Given the description of an element on the screen output the (x, y) to click on. 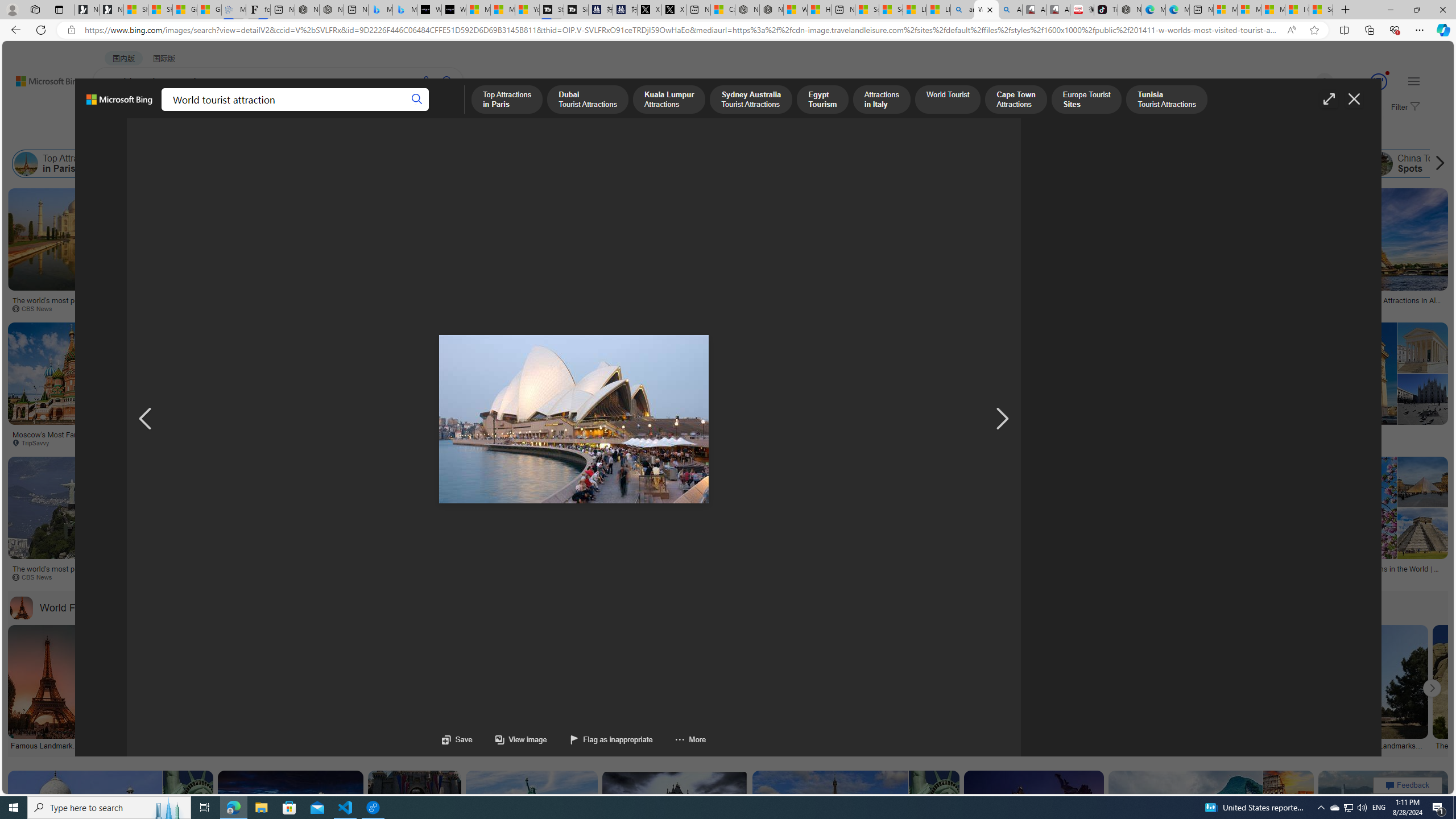
Dubai Tourist Attractions (175, 163)
License (377, 135)
femuacorsica.com (834, 442)
Famous Tourist Spot In Franceblogspot.comSave (1353, 387)
Color (173, 135)
All Cubot phones (1057, 9)
Top world's tourist places to visit (812, 434)
Statue of Liberty Replica (727, 261)
